Given the description of an element on the screen output the (x, y) to click on. 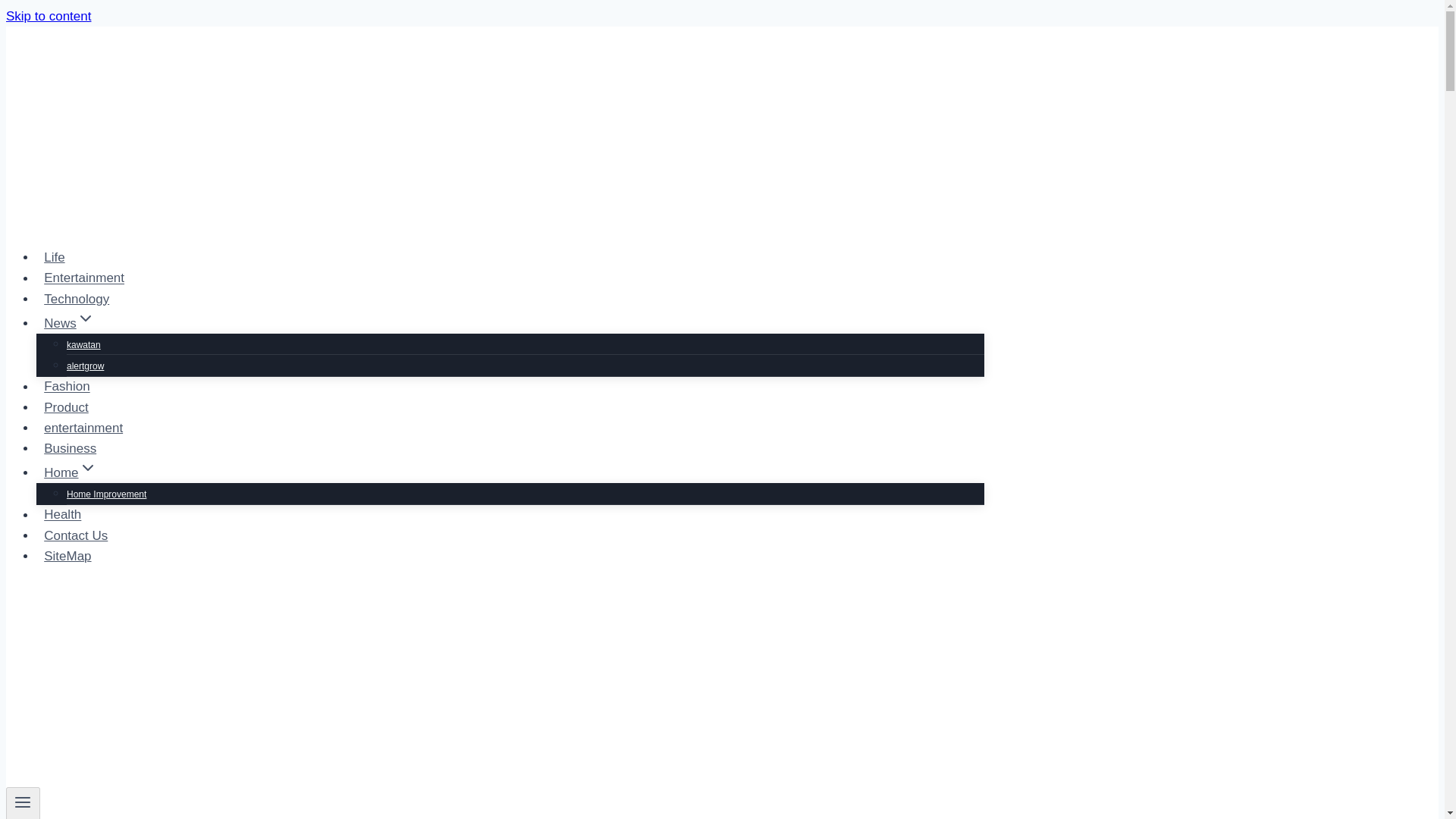
kawatan (83, 344)
Skip to content (47, 16)
HomeExpand (70, 472)
entertainment (83, 428)
Expand (87, 467)
SiteMap (67, 555)
Home Improvement (106, 493)
Toggle Menu (22, 802)
Health (62, 514)
Contact Us (75, 535)
Product (66, 407)
Expand (85, 318)
Fashion (66, 386)
Life (54, 256)
NewsExpand (68, 323)
